Given the description of an element on the screen output the (x, y) to click on. 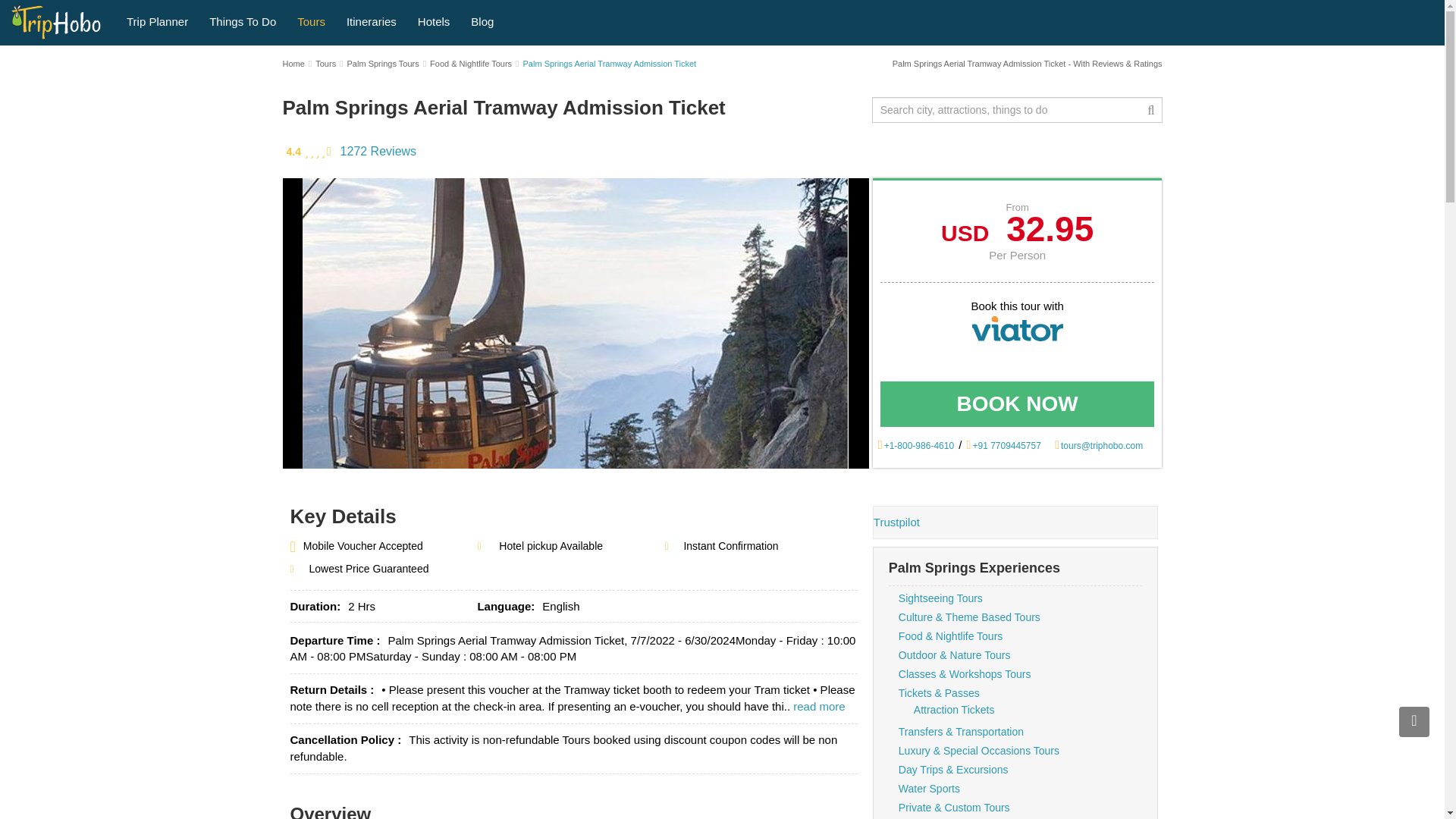
Blog (481, 20)
Hotels (434, 20)
Home (293, 62)
Water Sports (928, 788)
Trustpilot (896, 521)
Hotels (434, 20)
Palm Springs Tours (383, 62)
Palm Springs Experiences (973, 567)
Itineraries (371, 20)
Tours (311, 20)
Destinations (242, 20)
Tours (311, 20)
Triphobo (55, 18)
Trip Planner (157, 20)
Things To Do (242, 20)
